Given the description of an element on the screen output the (x, y) to click on. 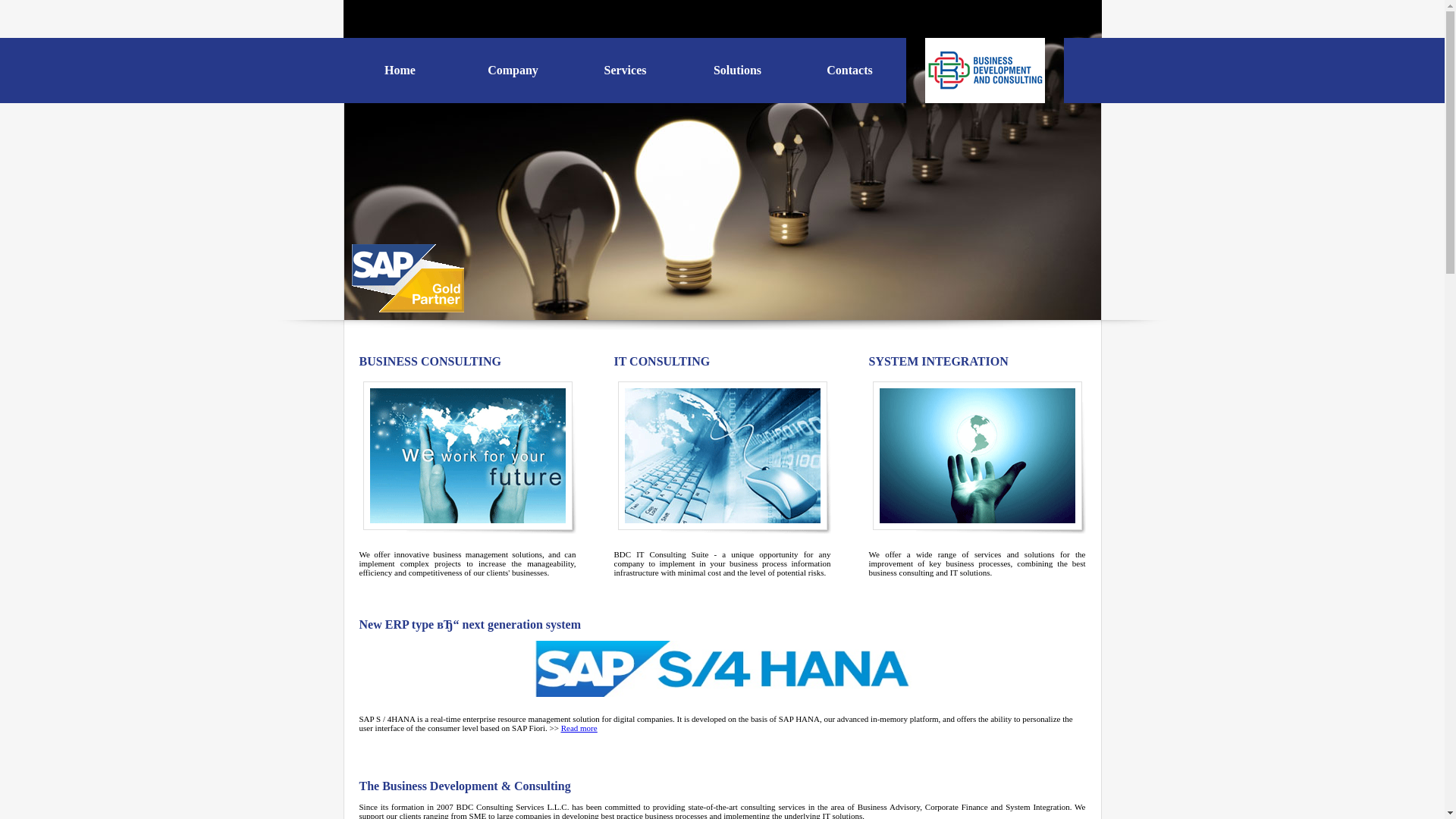
Services Element type: text (624, 69)
Company Element type: text (512, 69)
Read more Element type: text (579, 727)
Contacts Element type: text (849, 69)
Solutions Element type: text (737, 69)
Home Element type: text (399, 69)
